Given the description of an element on the screen output the (x, y) to click on. 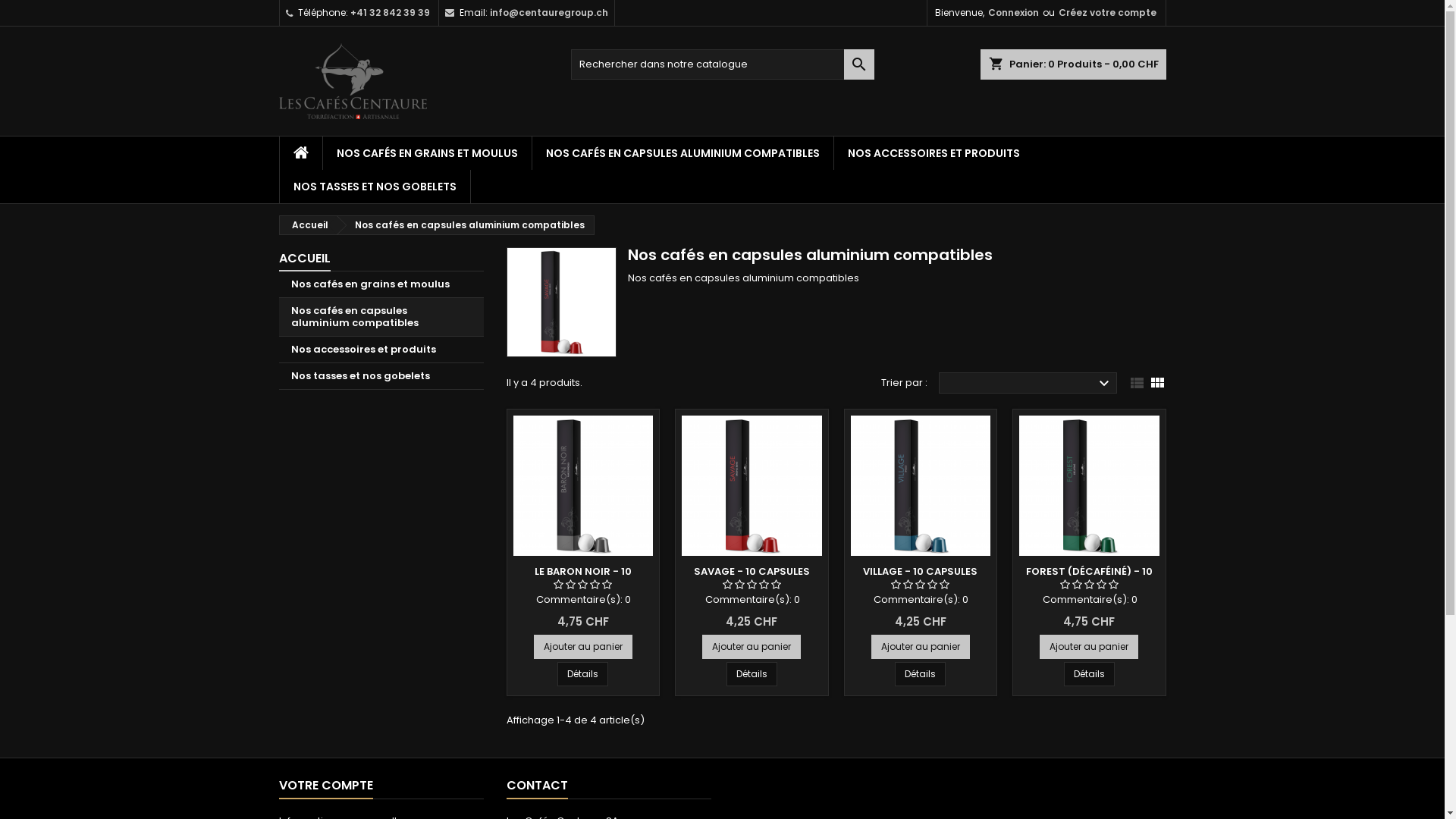
SAVAGE - 10 CAPSULES ALUMINIUM Element type: text (751, 579)
ACCUEIL Element type: text (304, 259)
Nos tasses et nos gobelets Element type: text (381, 376)
CONTACT Element type: text (536, 786)
Ajouter au panier Element type: text (751, 645)
Nos accessoires et produits Element type: text (381, 349)
VILLAGE - 10 CAPSULES ALUMINIUM Element type: text (919, 579)
Ajouter au panier Element type: text (920, 645)
shopping_cart
Panier: 0 Produits - 0,00 CHF Element type: text (1072, 64)
NOS TASSES ET NOS GOBELETS Element type: text (374, 186)
info@centauregroup.ch Element type: text (548, 12)
Accueil Element type: text (307, 225)
VOTRE COMPTE Element type: text (326, 786)
Connexion Element type: text (1012, 12)
Ajouter au panier Element type: text (1088, 645)
NOS ACCESSOIRES ET PRODUITS Element type: text (933, 152)
LE BARON NOIR - 10 CAPSULES ALUMINIUM Element type: text (582, 579)
Ajouter au panier Element type: text (582, 645)
